Given the description of an element on the screen output the (x, y) to click on. 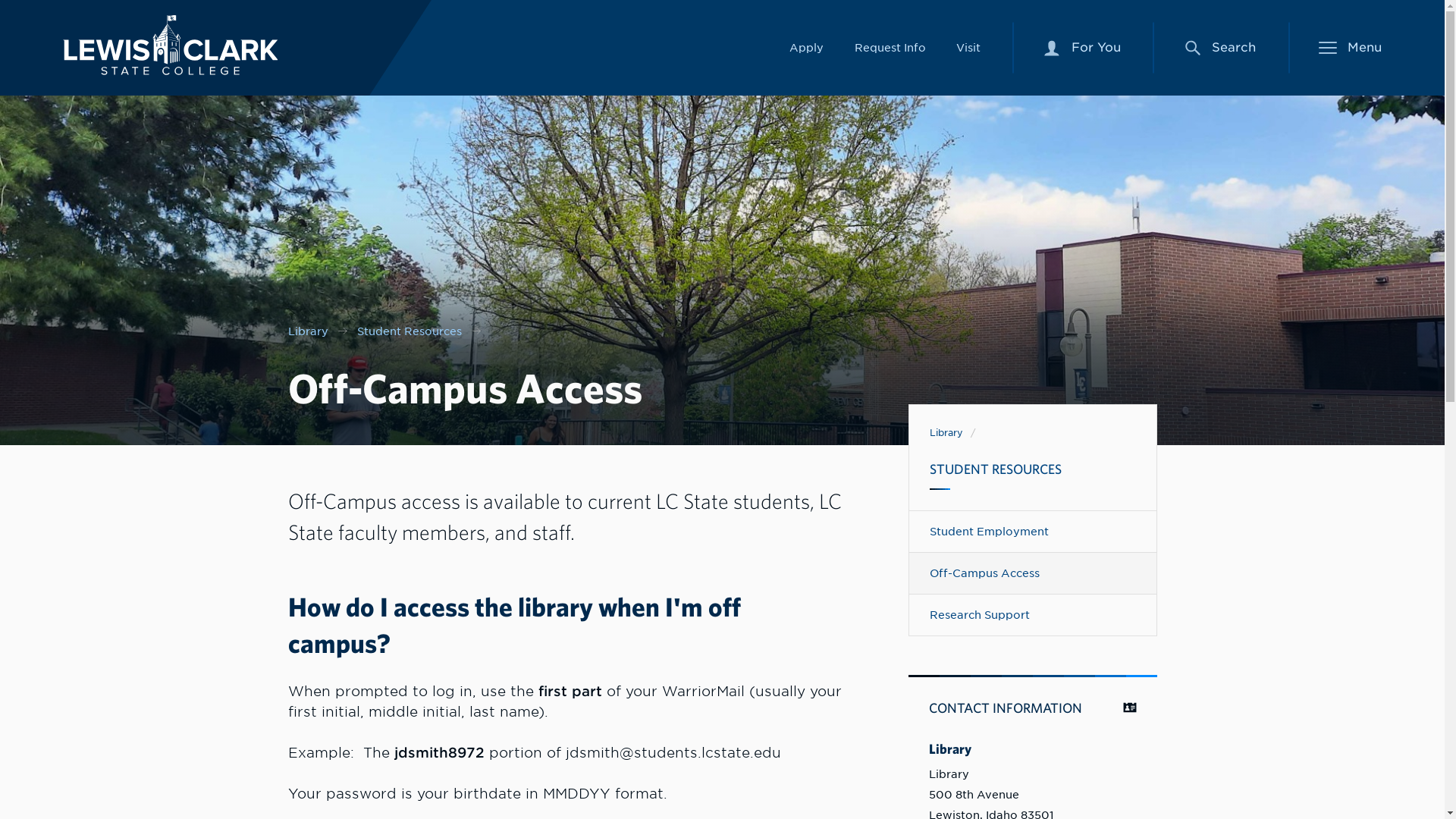
Apply (806, 46)
Visit (967, 46)
search-find--solid (1191, 47)
Request Info (888, 46)
Lewis-Clark State College (1082, 47)
user--solid (170, 45)
